Given the description of an element on the screen output the (x, y) to click on. 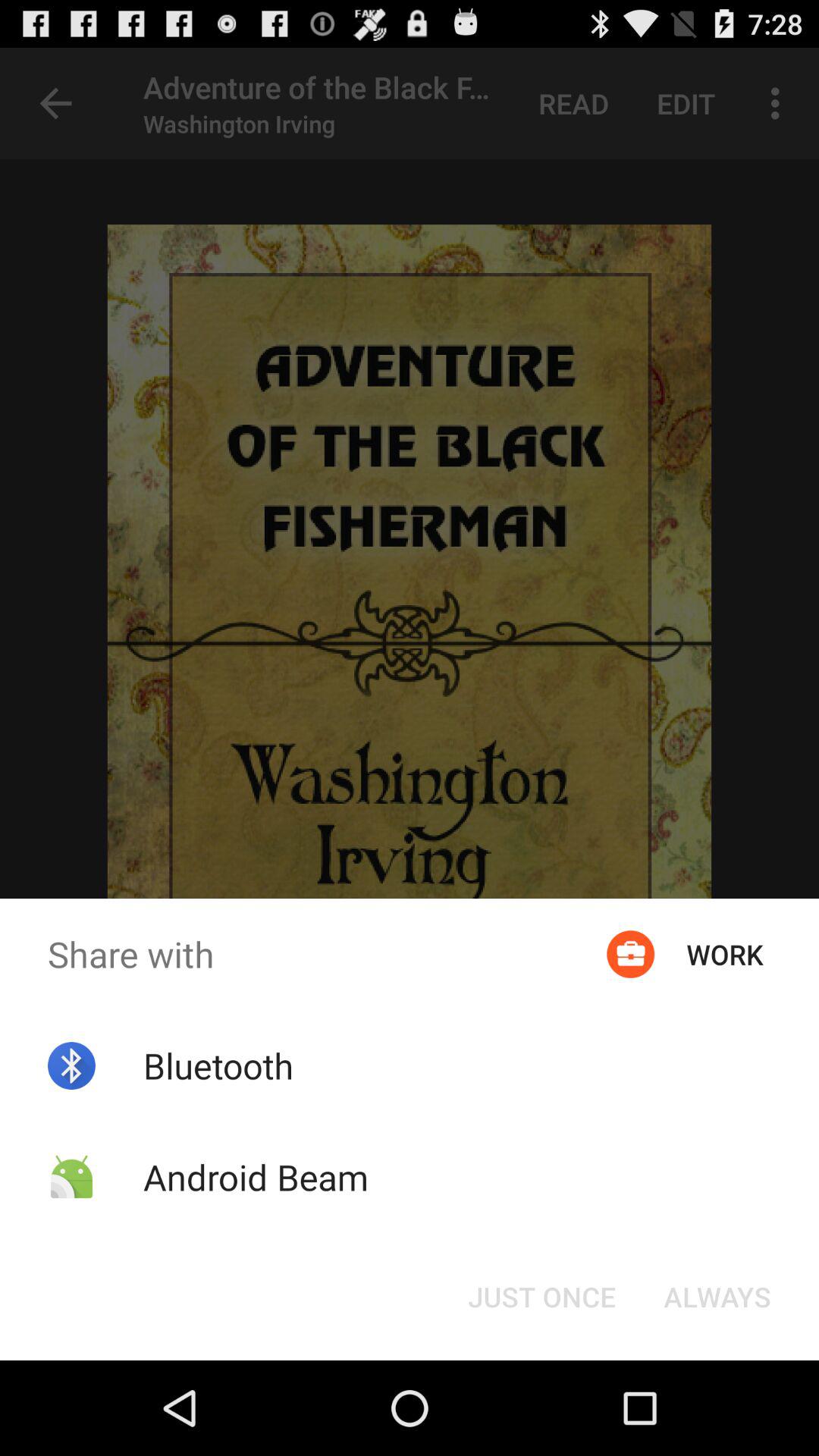
tap the bluetooth icon (218, 1065)
